Given the description of an element on the screen output the (x, y) to click on. 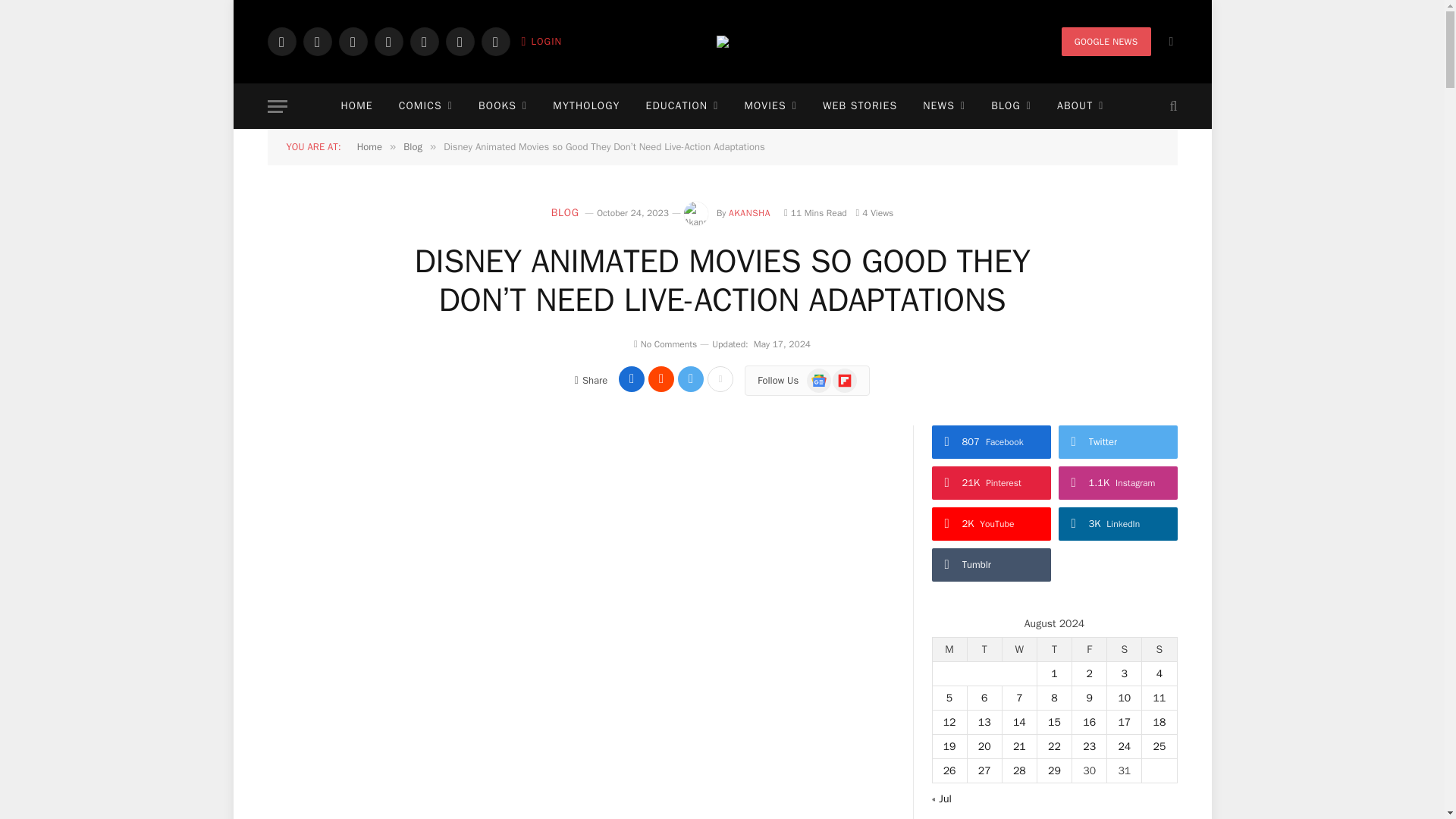
Share on Facebook (631, 379)
MYTHOLOGY (585, 105)
HOME (356, 105)
Posts by Akansha (749, 213)
BOOKS (502, 105)
Facebook (280, 41)
LOGIN (541, 41)
COMICS (425, 105)
RSS (494, 41)
Instagram (351, 41)
